Given the description of an element on the screen output the (x, y) to click on. 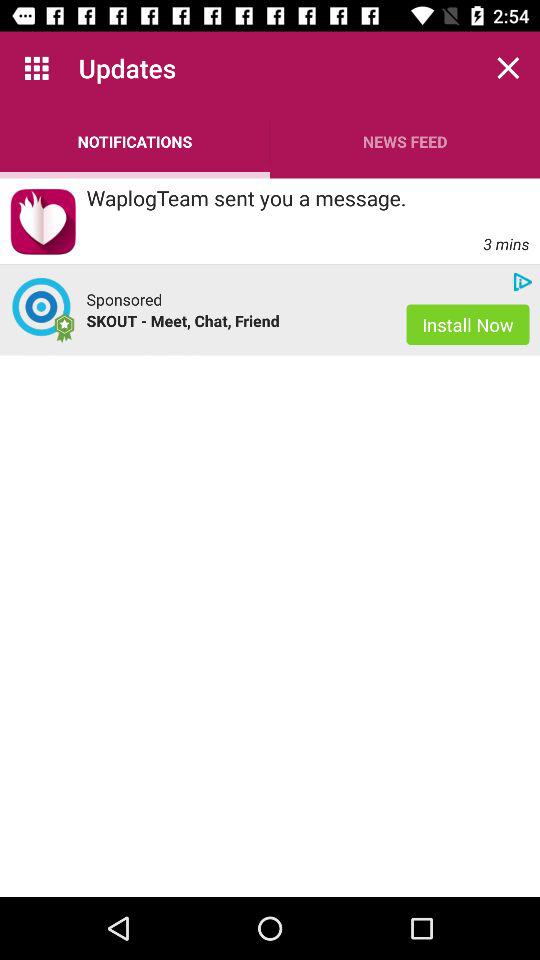
tap the icon below the waplogteam sent you item (124, 299)
